Given the description of an element on the screen output the (x, y) to click on. 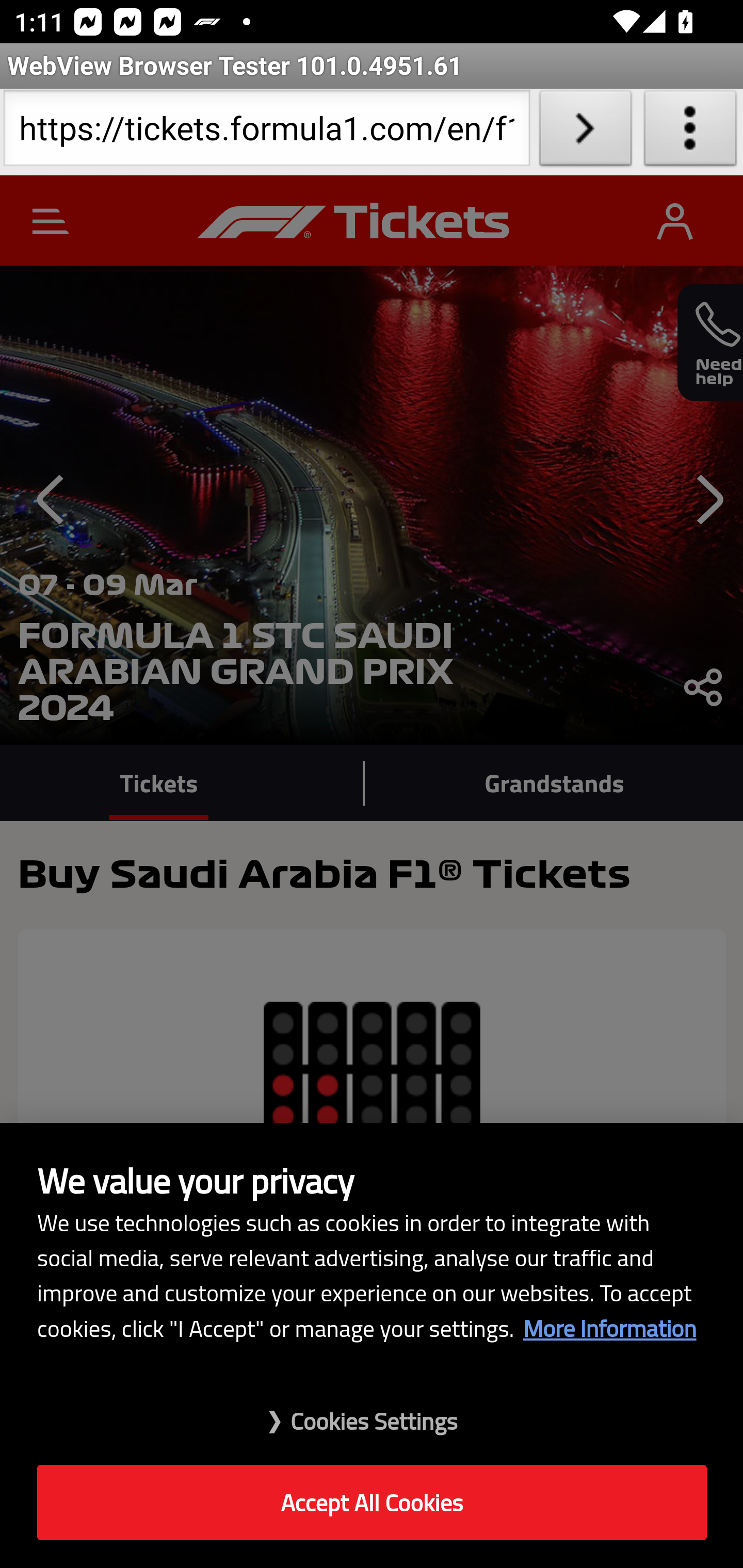
Load URL (585, 132)
About WebView (690, 132)
More Information (608, 1327)
❯Cookies Settings (372, 1411)
Accept All Cookies (372, 1502)
